Given the description of an element on the screen output the (x, y) to click on. 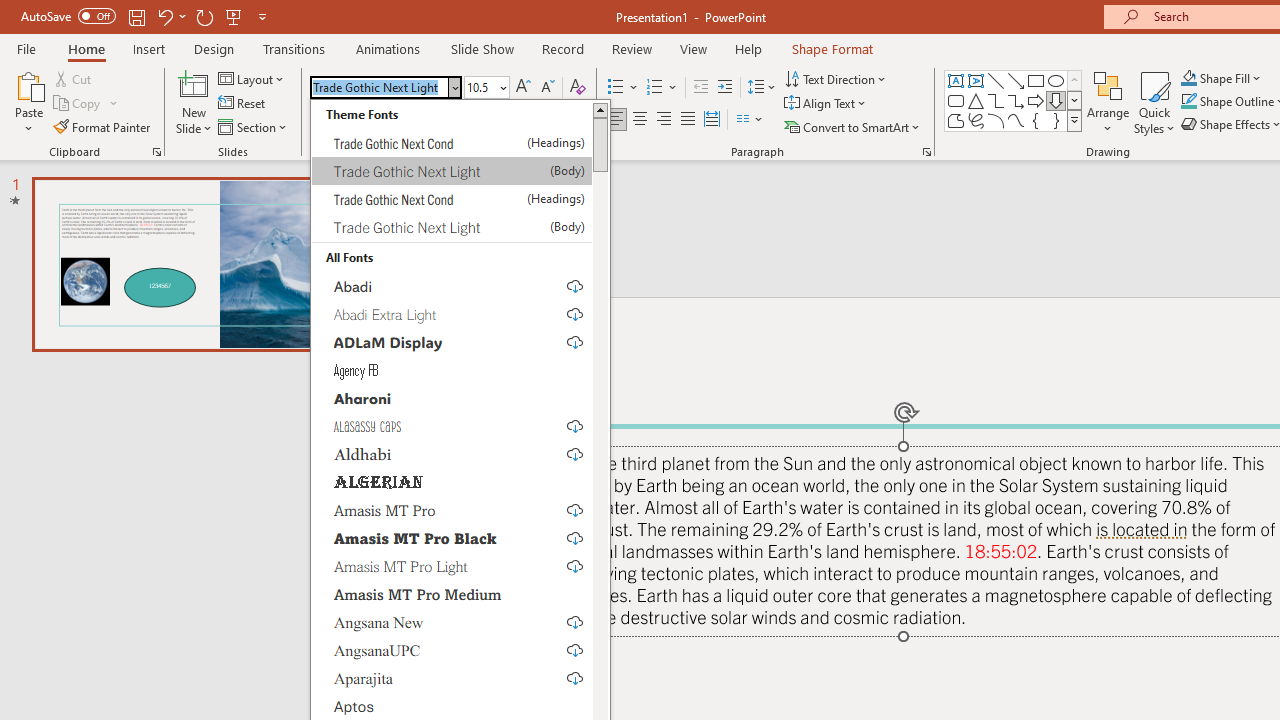
Transitions (294, 48)
Freeform: Scribble (975, 120)
Font Color (569, 119)
Review (631, 48)
Distributed (712, 119)
Bullets (623, 87)
Amasis MT Pro Light, select to download (451, 566)
Align Left (616, 119)
Shapes (1074, 120)
Oval (1055, 80)
Shape Format (832, 48)
Abadi Extra Light, select to download (451, 314)
Left Brace (1035, 120)
Vertical Text Box (975, 80)
